Given the description of an element on the screen output the (x, y) to click on. 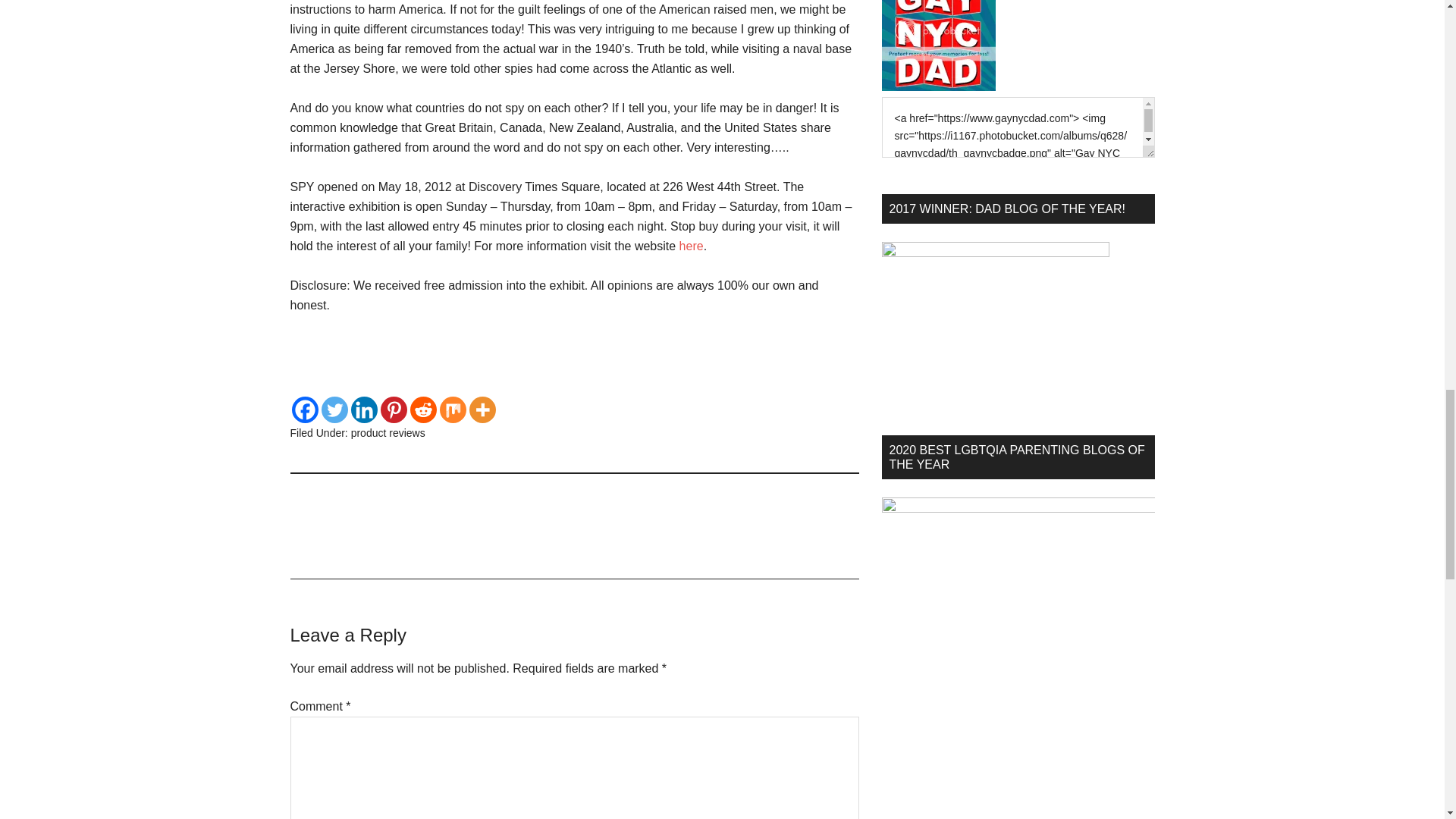
Mix (452, 409)
Pinterest (393, 409)
Twitter (334, 409)
Facebook (304, 409)
Reddit (422, 409)
here (691, 245)
Linkedin (363, 409)
